Given the description of an element on the screen output the (x, y) to click on. 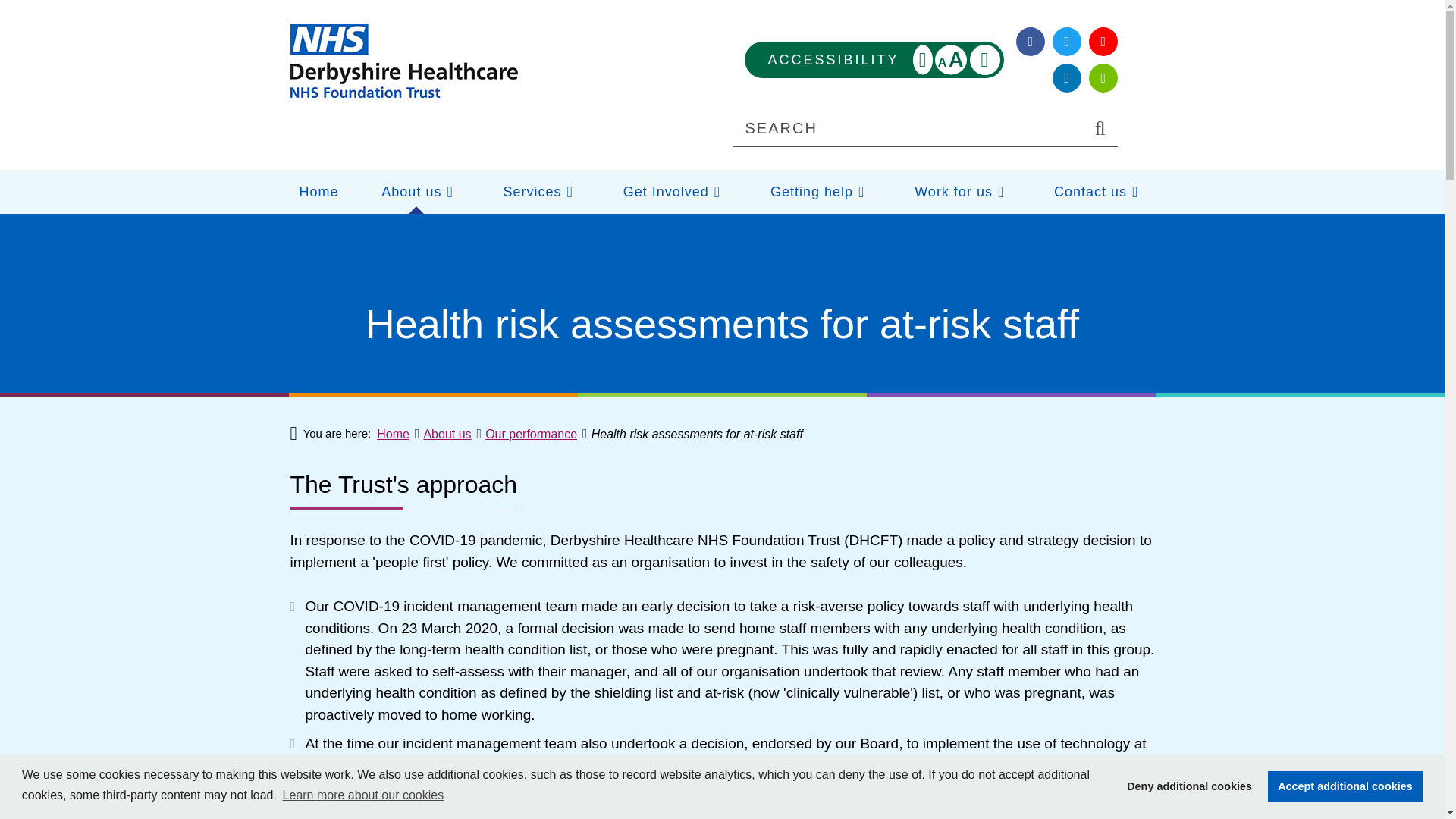
Homepage (402, 60)
About us (416, 191)
Deny additional cookies (1189, 786)
Learn more about our cookies (362, 794)
Accept additional cookies (1345, 786)
Home (873, 59)
